Given the description of an element on the screen output the (x, y) to click on. 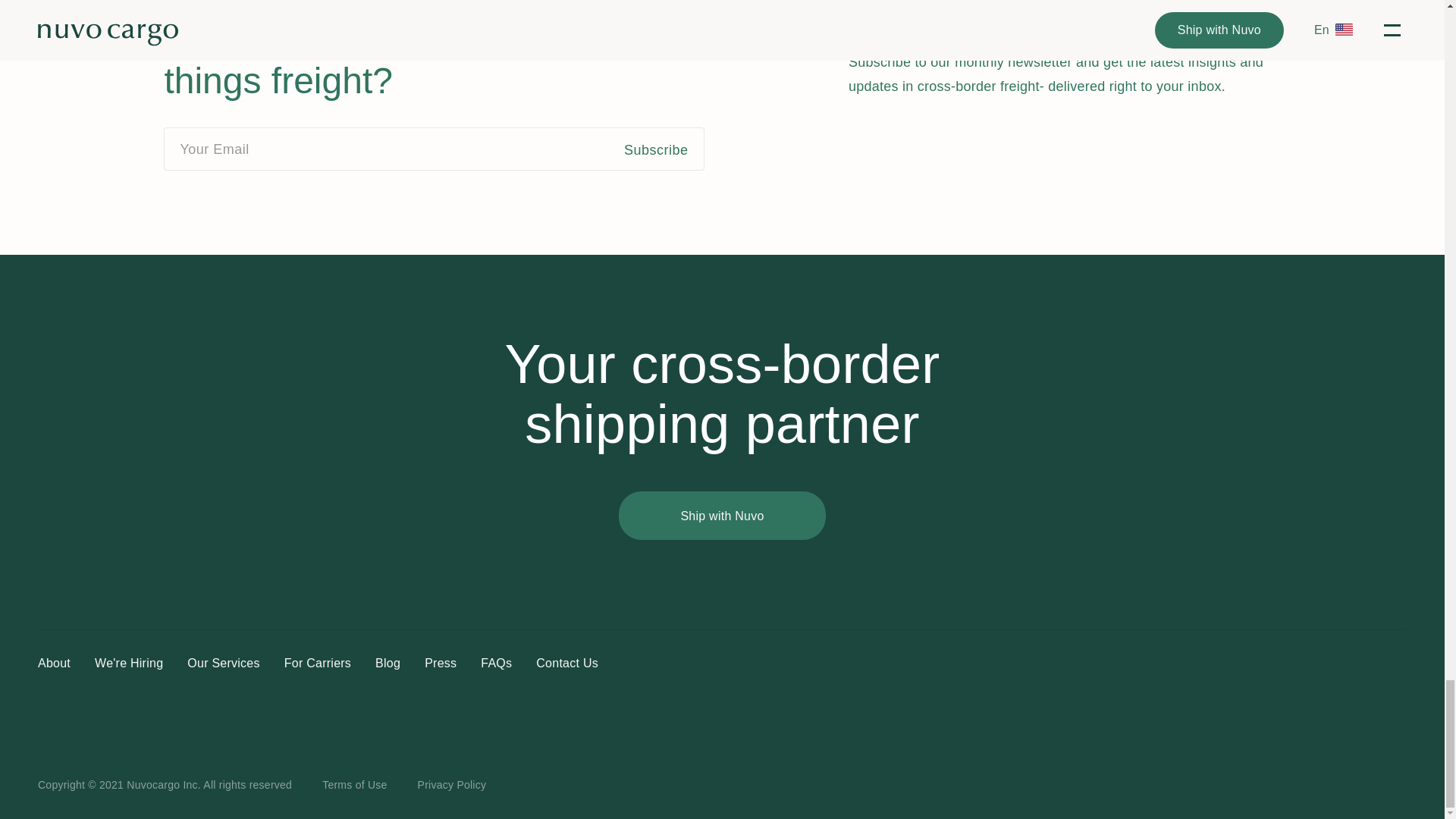
Subscribe (664, 148)
About (53, 662)
For Carriers (316, 662)
We're Hiring (128, 662)
Press (441, 662)
Blog (387, 662)
Ship with Nuvo (721, 515)
FAQs (496, 662)
Subscribe (664, 148)
Our Services (223, 662)
